Given the description of an element on the screen output the (x, y) to click on. 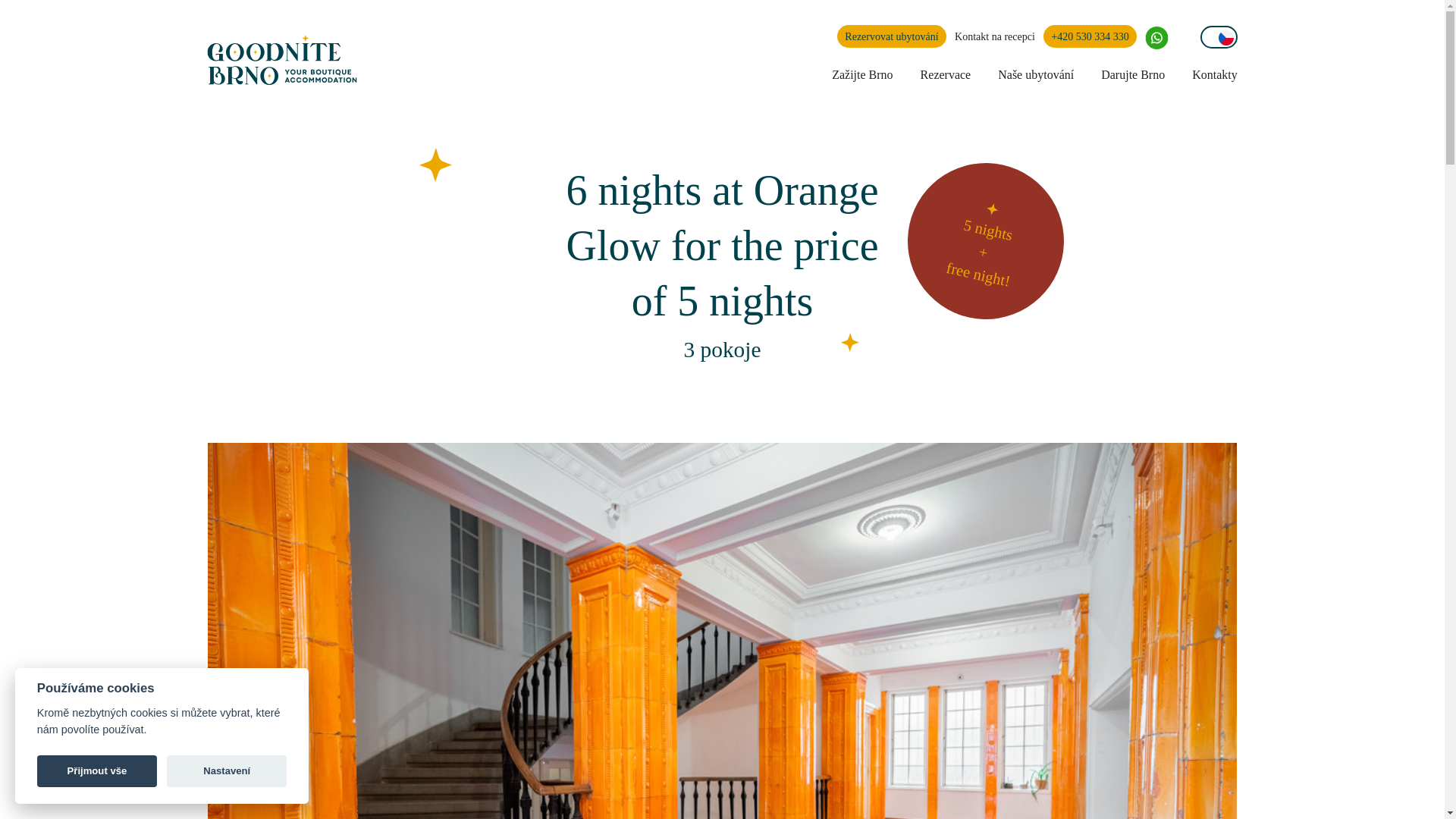
Kontakty (1214, 75)
Rezervace (945, 75)
Darujte Brno (1132, 75)
Rezervace (945, 75)
Kontakty (1214, 75)
Darujte Brno (1132, 75)
